Given the description of an element on the screen output the (x, y) to click on. 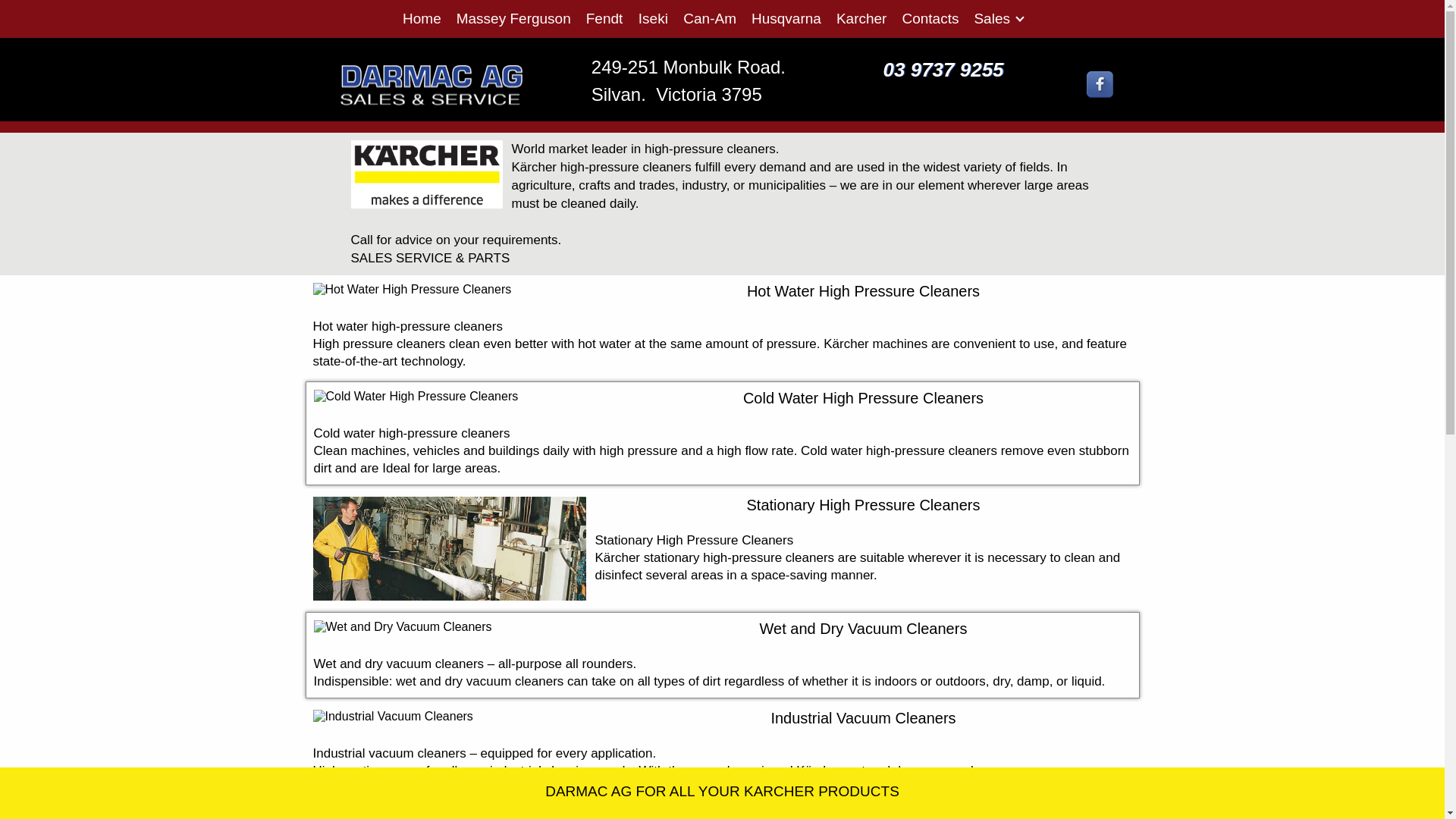
Home Element type: text (421, 18)
Massey Ferguson Element type: text (513, 18)
Fendt Element type: text (604, 18)
Husqvarna Element type: text (785, 18)
Iseki Element type: text (652, 18)
Can-Am Element type: text (709, 18)
Contacts Element type: text (930, 18)
Karcher Element type: text (861, 18)
